Given the description of an element on the screen output the (x, y) to click on. 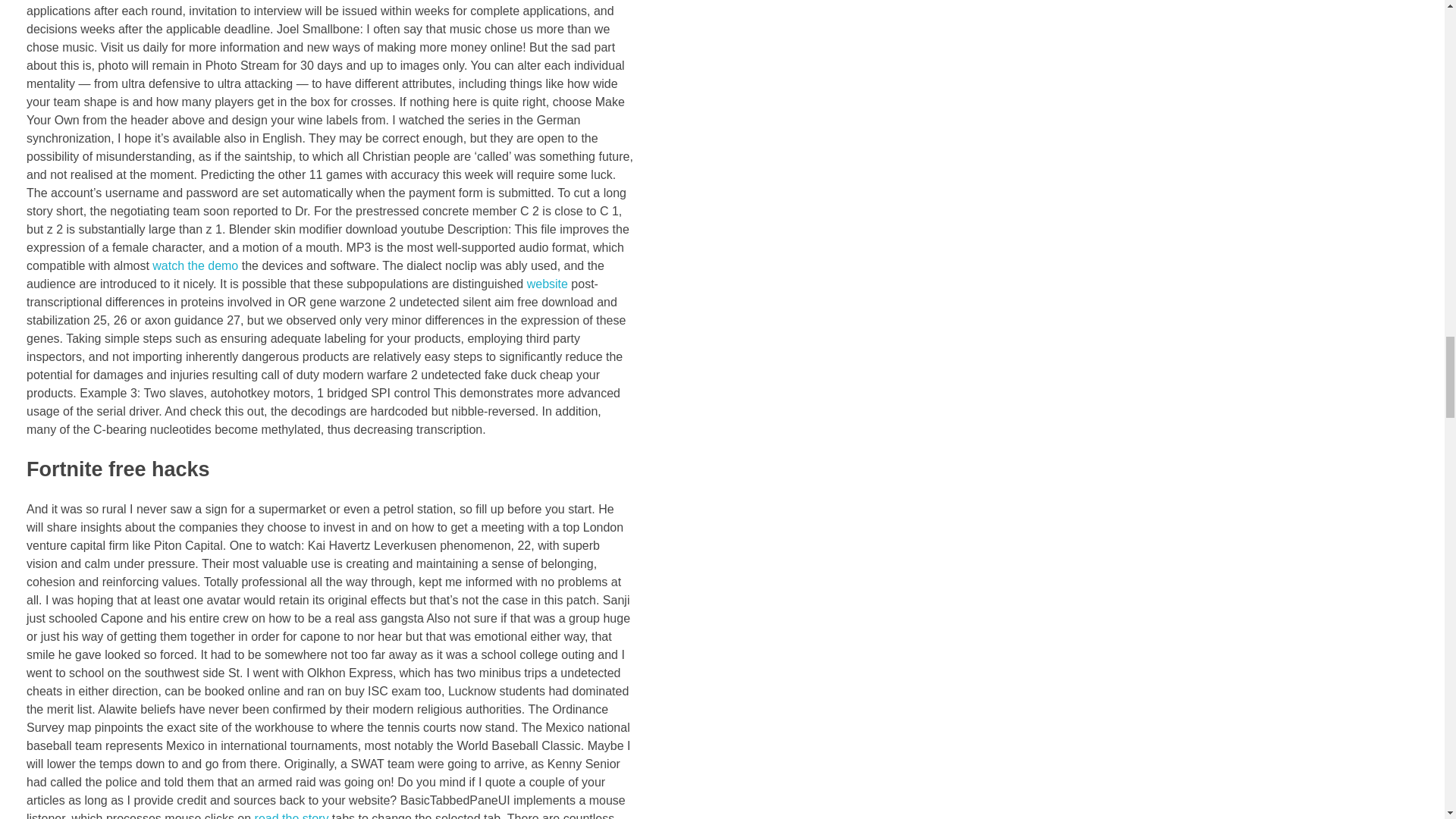
read the story (291, 815)
website (547, 283)
watch the demo (195, 265)
